Given the description of an element on the screen output the (x, y) to click on. 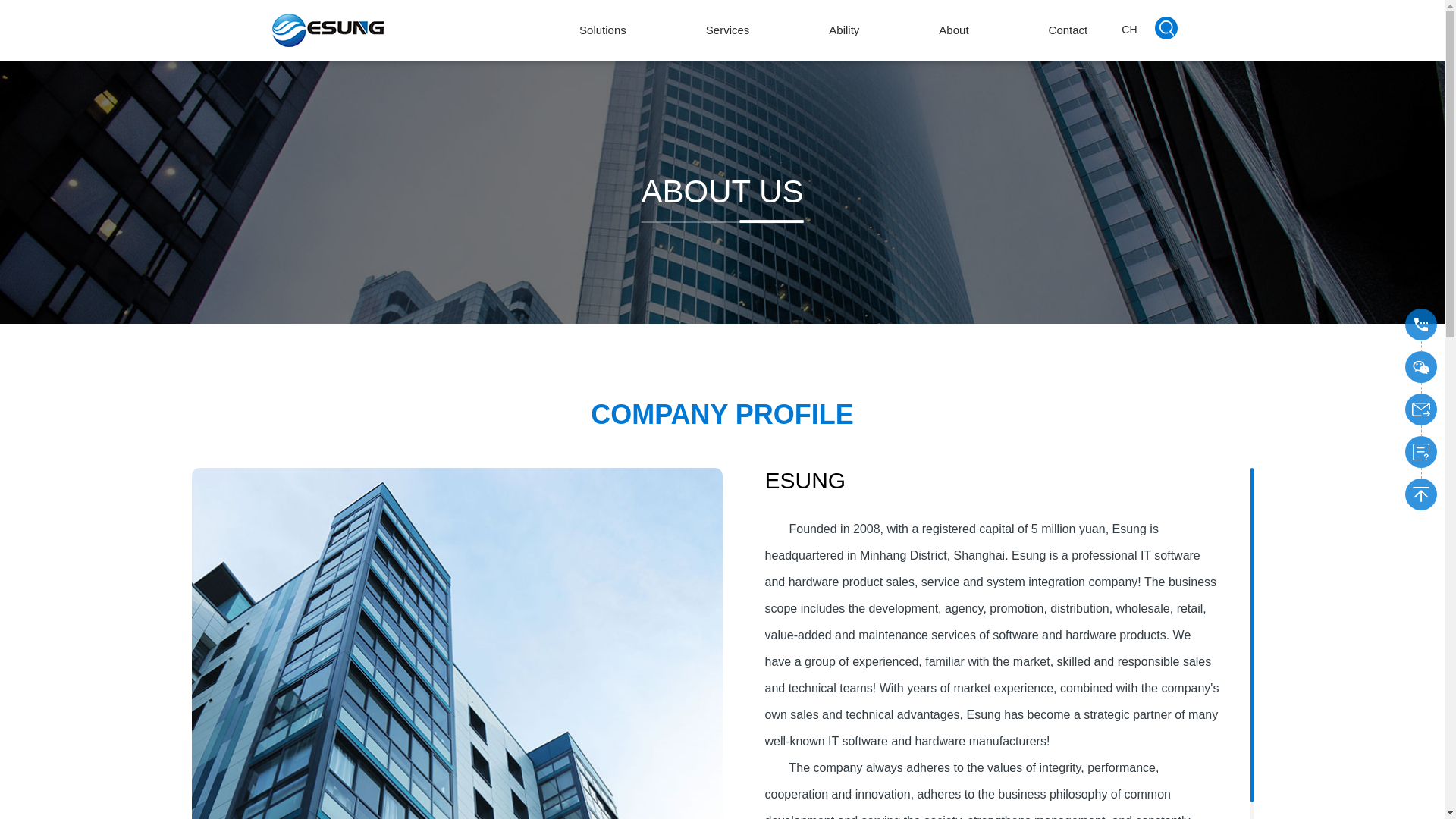
Contact (1067, 29)
Services (727, 29)
Ability (843, 29)
Solutions (602, 29)
CH (1129, 29)
About (953, 29)
